Given the description of an element on the screen output the (x, y) to click on. 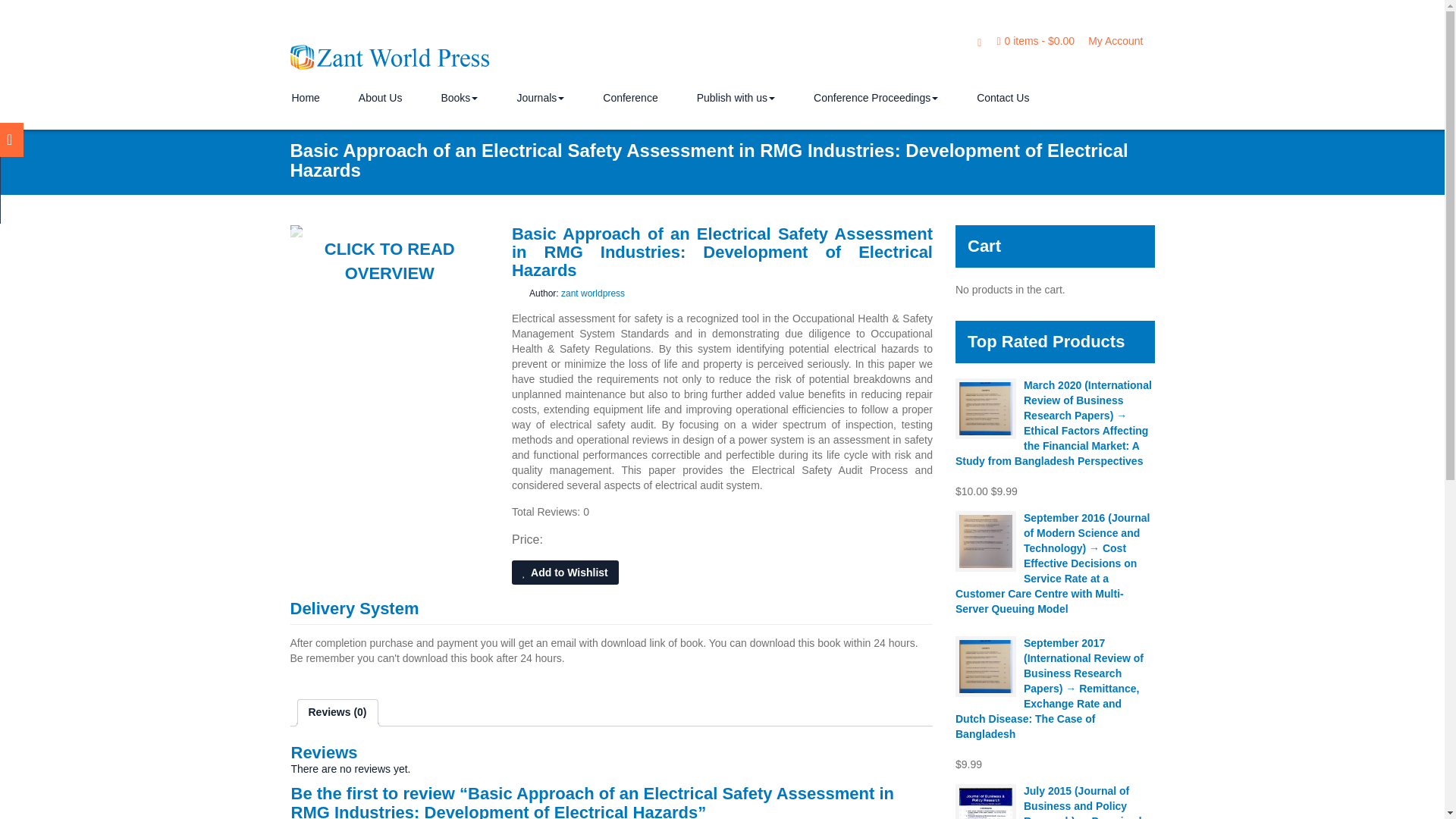
View your shopping cart (1034, 40)
Home (304, 100)
About Us (380, 100)
Journals (540, 100)
Books (459, 100)
My Account (1114, 41)
Conference (630, 100)
Publish with us (735, 100)
